Given the description of an element on the screen output the (x, y) to click on. 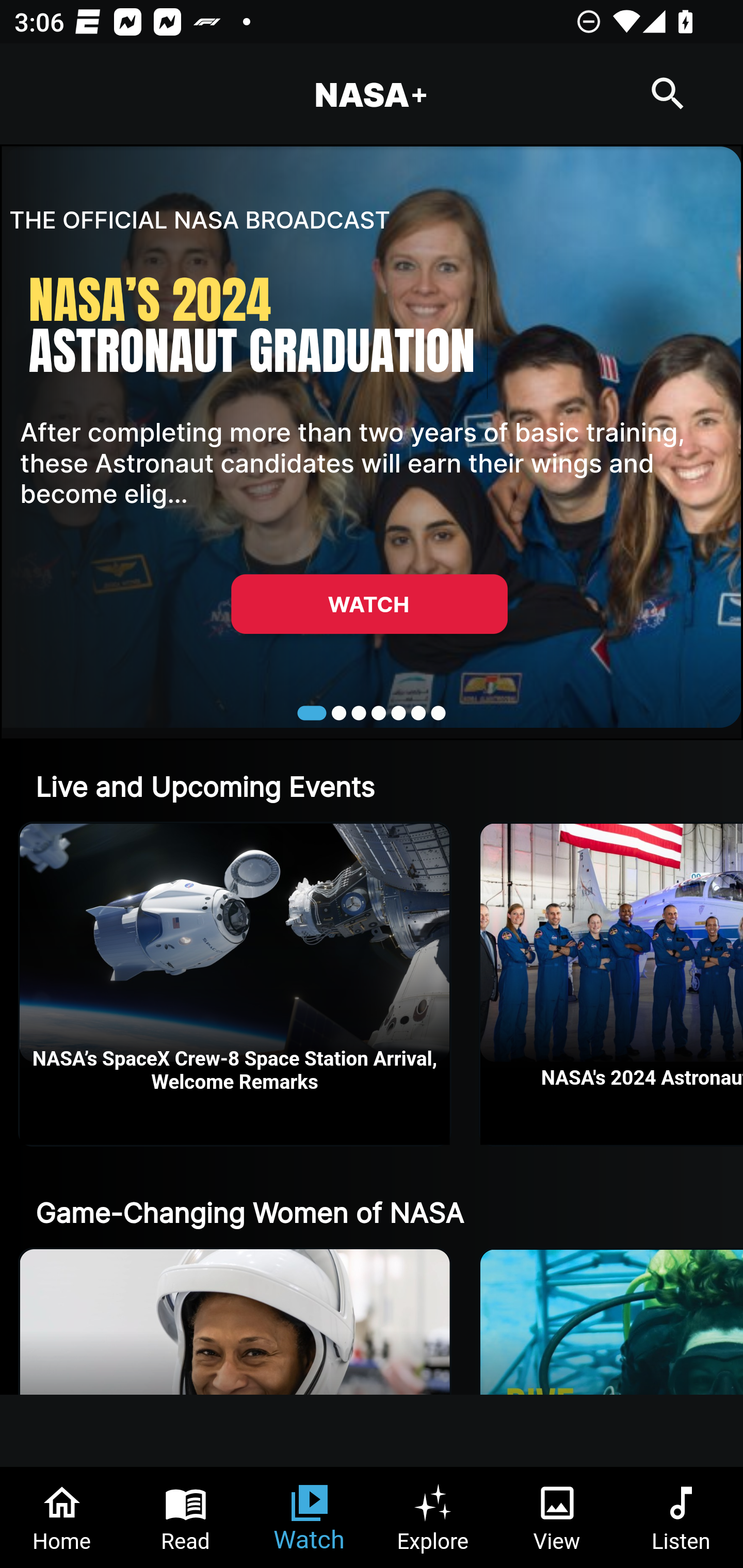
WATCH (369, 603)
NASA's 2024 Astronaut Graduation (611, 983)
Home
Tab 1 of 6 (62, 1517)
Read
Tab 2 of 6 (185, 1517)
Watch
Tab 3 of 6 (309, 1517)
Explore
Tab 4 of 6 (433, 1517)
View
Tab 5 of 6 (556, 1517)
Listen
Tab 6 of 6 (680, 1517)
